Given the description of an element on the screen output the (x, y) to click on. 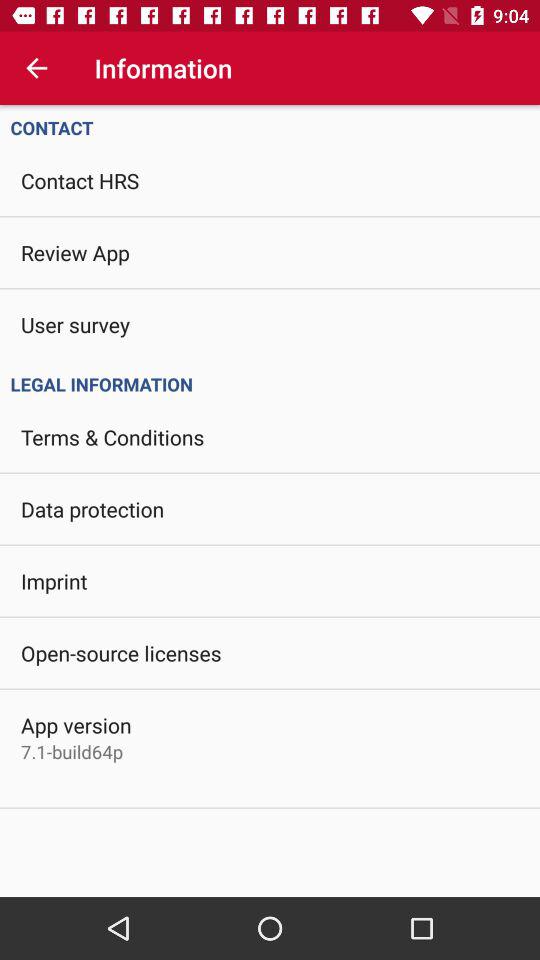
launch item next to information app (36, 68)
